Given the description of an element on the screen output the (x, y) to click on. 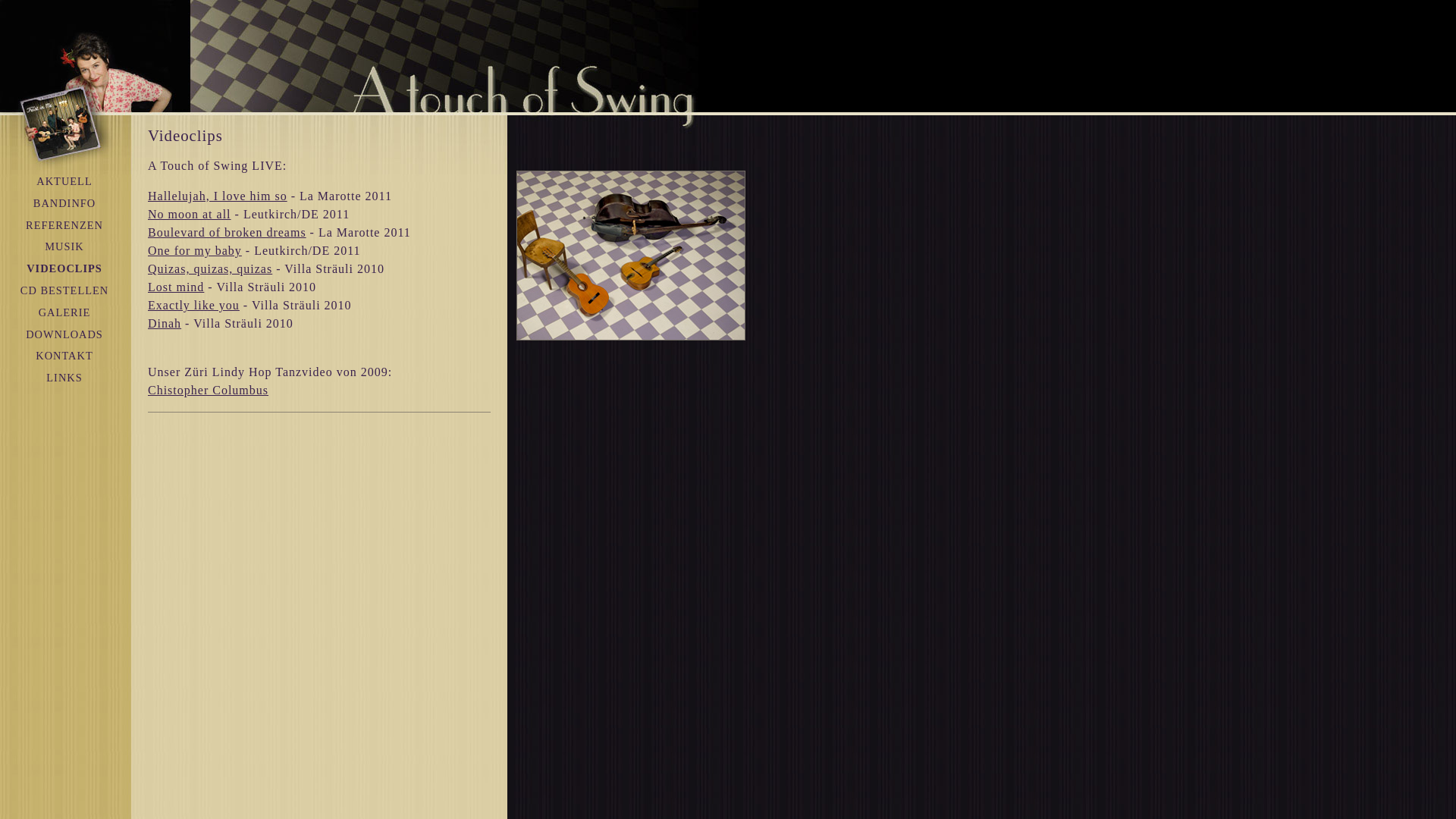
DOWNLOADS Element type: text (64, 334)
AKTUELL Element type: text (63, 181)
Quizas, quizas, quizas Element type: text (209, 268)
GALERIE Element type: text (64, 312)
Lost mind Element type: text (175, 286)
KONTAKT Element type: text (63, 355)
No moon at all Element type: text (189, 213)
Hallelujah, I love him so Element type: text (217, 195)
MUSIK Element type: text (63, 246)
Chistopher Columbus Element type: text (207, 389)
One for my baby Element type: text (194, 250)
Exactly like you Element type: text (193, 304)
BANDINFO Element type: text (64, 203)
REFERENZEN Element type: text (64, 225)
LINKS Element type: text (63, 377)
Dinah Element type: text (164, 322)
Boulevard of broken dreams Element type: text (226, 231)
VIDEOCLIPS Element type: text (64, 268)
CD BESTELLEN Element type: text (64, 290)
